Given the description of an element on the screen output the (x, y) to click on. 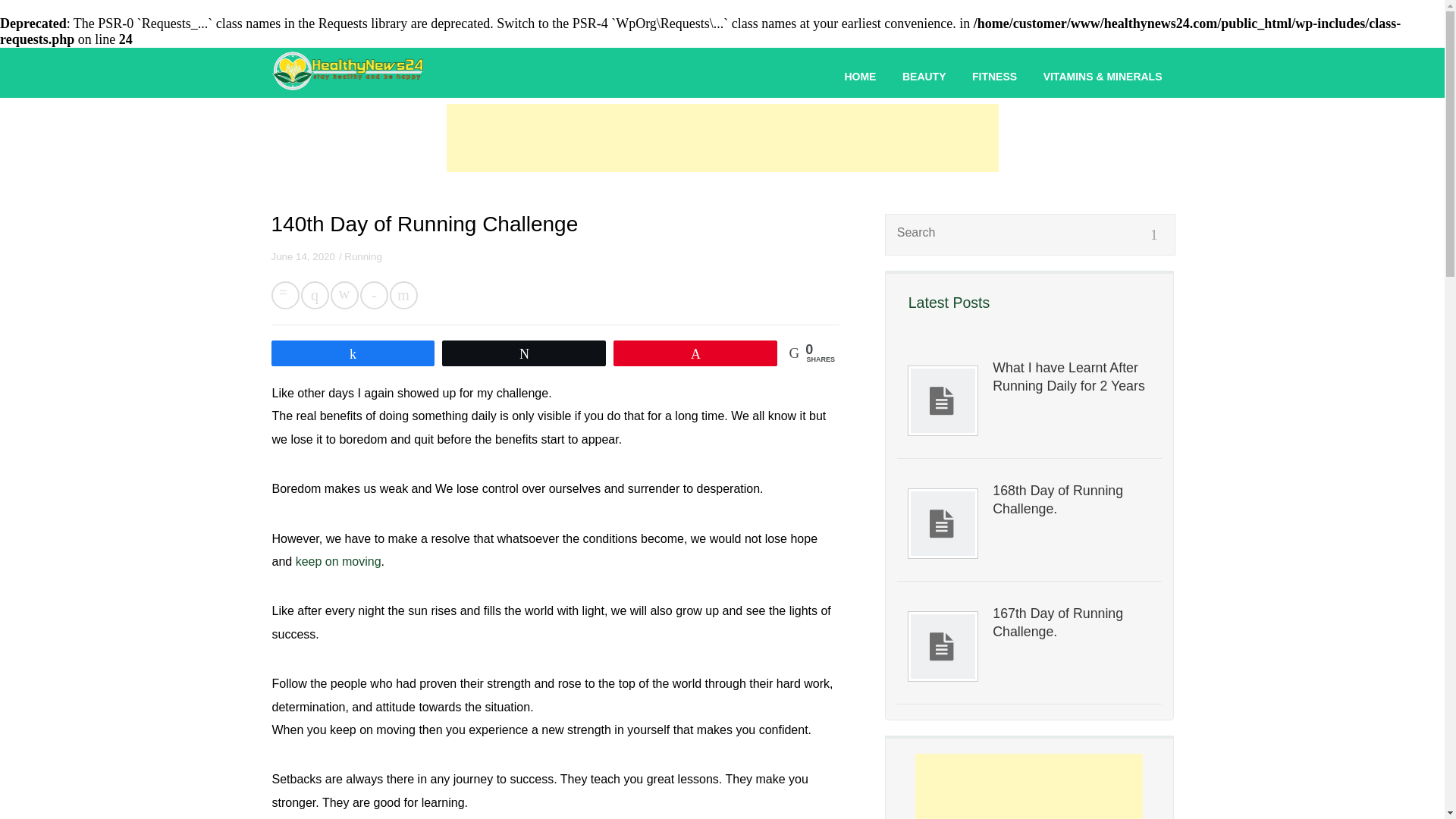
Advertisement (1028, 786)
Advertisement (721, 137)
FITNESS (994, 76)
167th Day of Running Challenge. (1071, 622)
168th Day of Running Challenge. (1071, 499)
Running (362, 256)
HOME (860, 76)
keep on moving (338, 561)
BEAUTY (924, 76)
What I have Learnt After Running Daily for 2 Years (1071, 376)
